Given the description of an element on the screen output the (x, y) to click on. 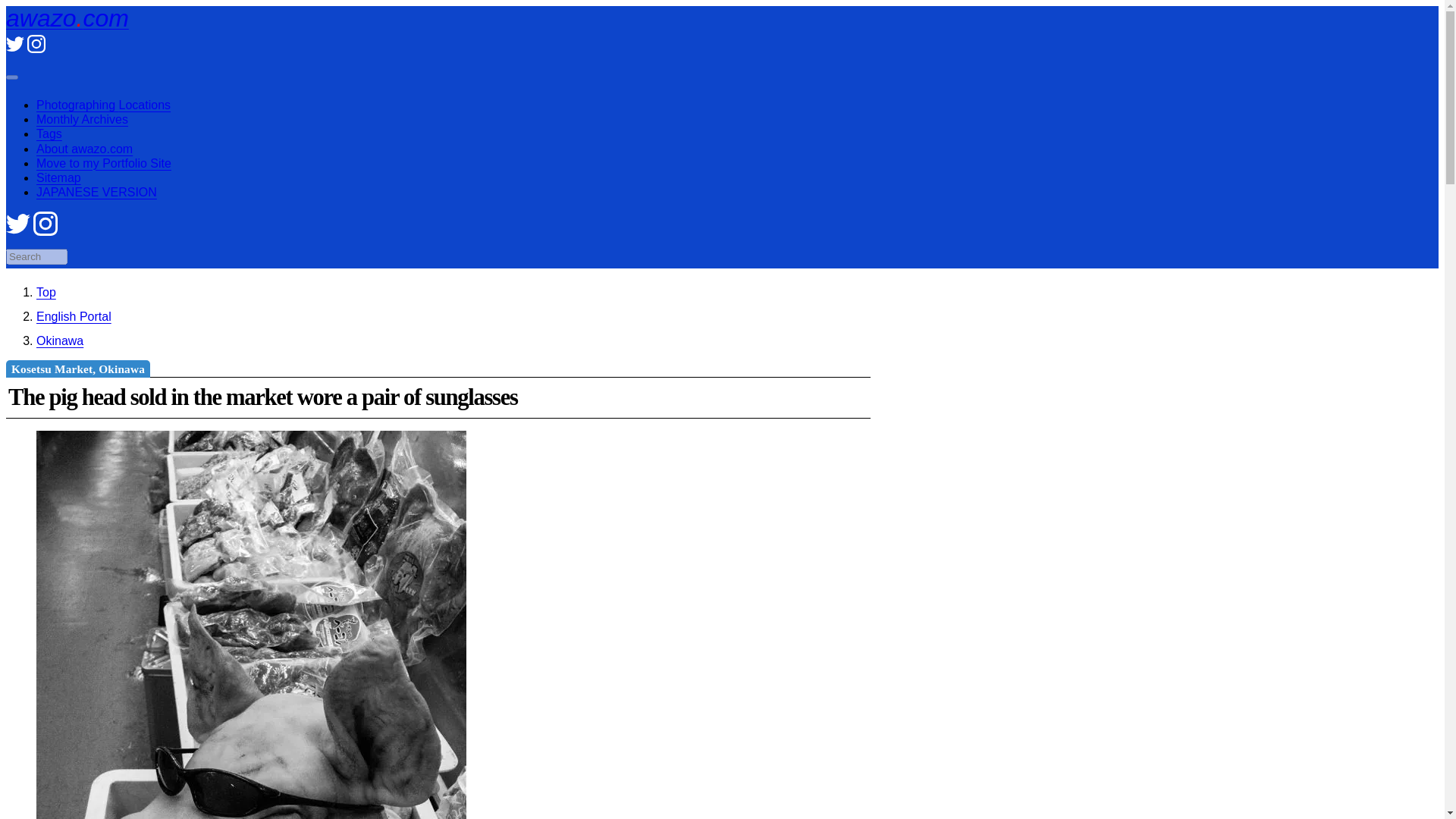
About awazo.com (84, 148)
awazo.com (67, 17)
English Portal (74, 316)
Monthly Archives (82, 119)
awazo.com (46, 291)
JAPANESE VERSION (96, 192)
awazo.com (67, 17)
Instagram (45, 231)
Instagram (36, 48)
Twitter (17, 231)
Photographing Locations (103, 104)
Sitemap (58, 177)
Tags (49, 133)
Okinawa (59, 340)
Top (46, 291)
